Given the description of an element on the screen output the (x, y) to click on. 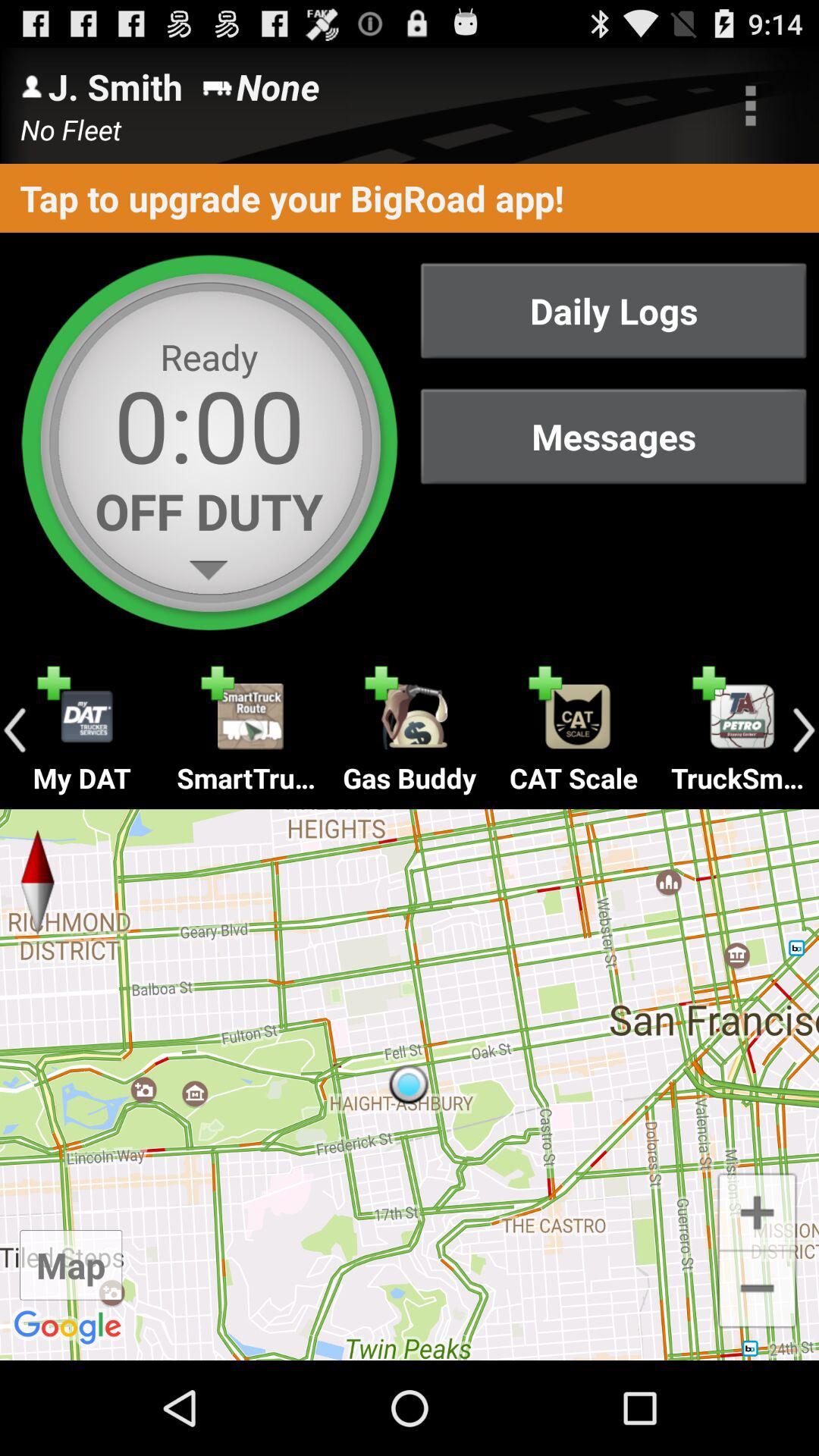
press daily logs icon (613, 310)
